Given the description of an element on the screen output the (x, y) to click on. 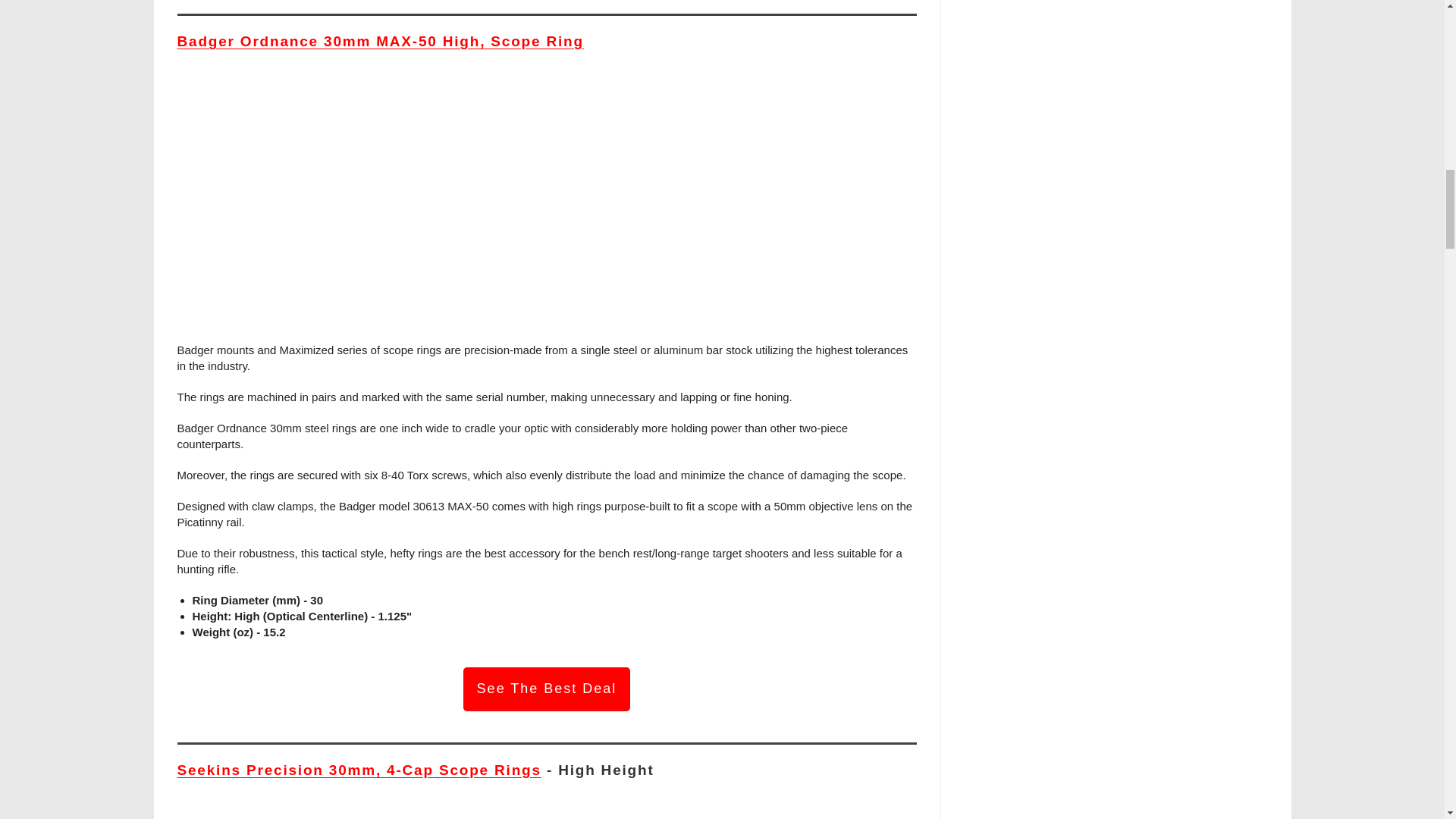
badger ordance 30mm max (546, 204)
seekins precision scope ring 30mm (546, 815)
